Given the description of an element on the screen output the (x, y) to click on. 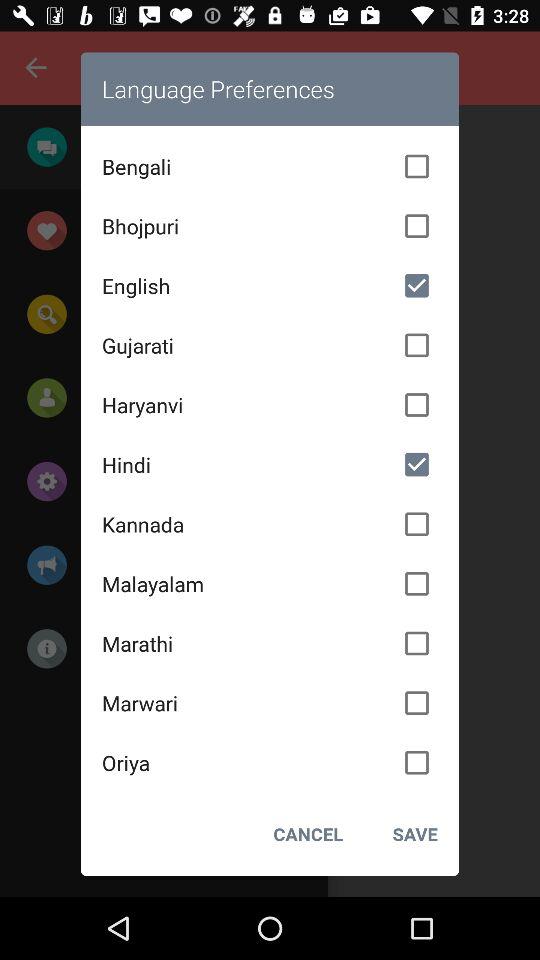
click item above the marathi icon (270, 583)
